Given the description of an element on the screen output the (x, y) to click on. 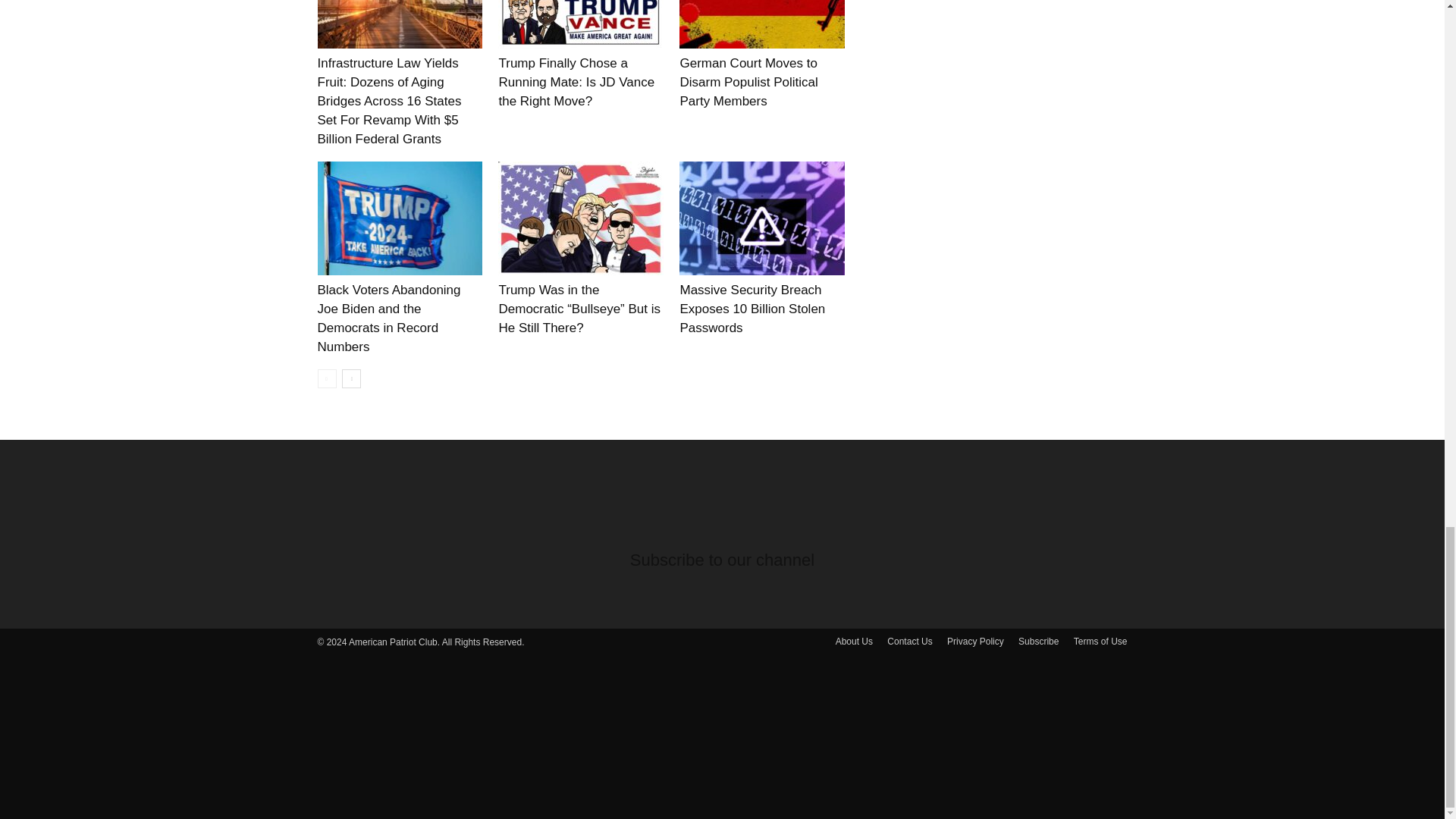
Massive Security Breach Exposes 10 Billion Stolen Passwords (752, 308)
